Given the description of an element on the screen output the (x, y) to click on. 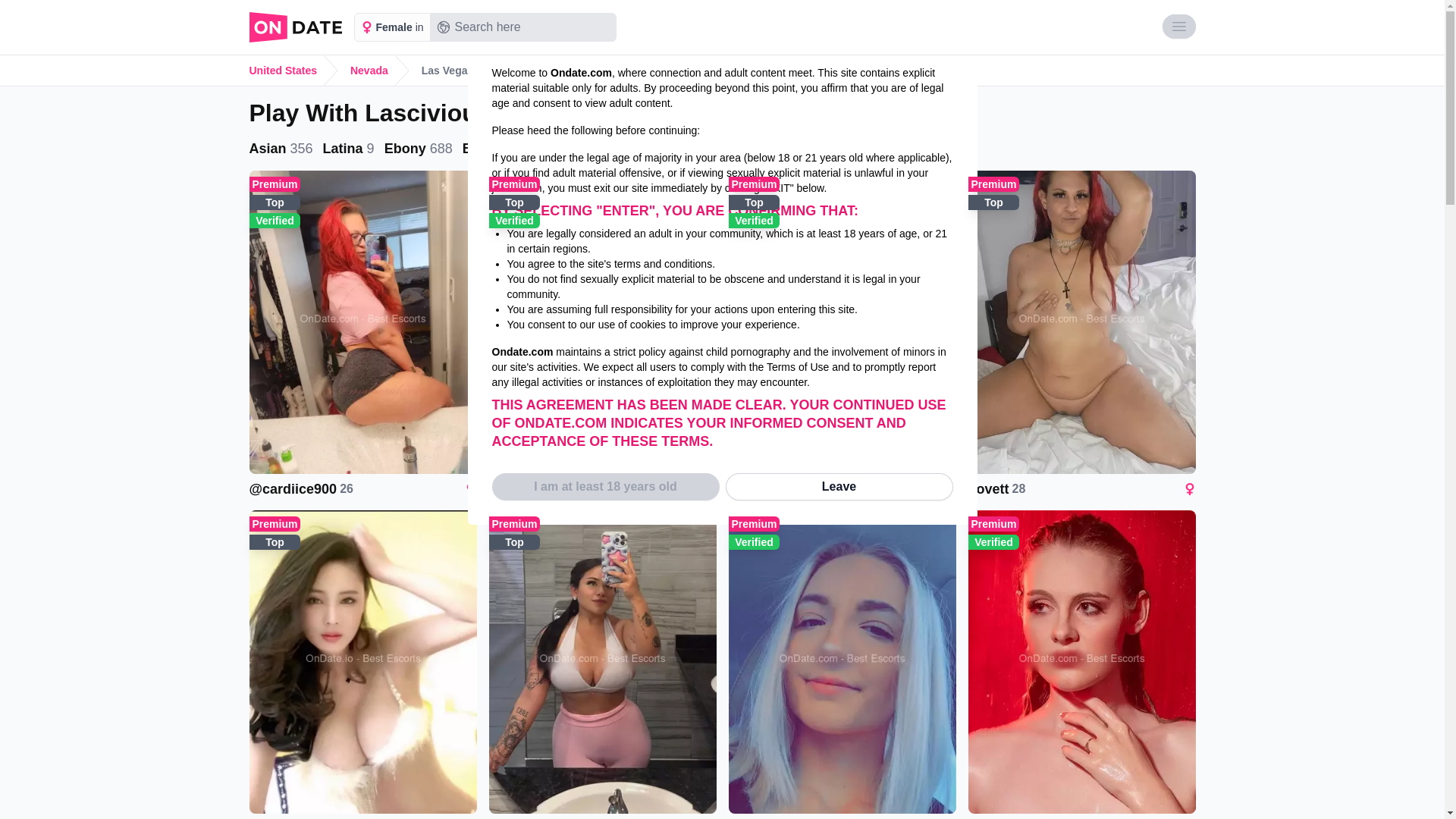
Top (273, 541)
Premium (993, 523)
Premium (513, 523)
Premium (753, 523)
Premium (513, 183)
Verified (753, 220)
Busty 867 (669, 148)
Top (513, 201)
Top (753, 201)
Premium (273, 523)
Asian 356 (281, 148)
Top (273, 201)
Premium (273, 183)
Blonde 286 (500, 148)
Verified (273, 220)
